Given the description of an element on the screen output the (x, y) to click on. 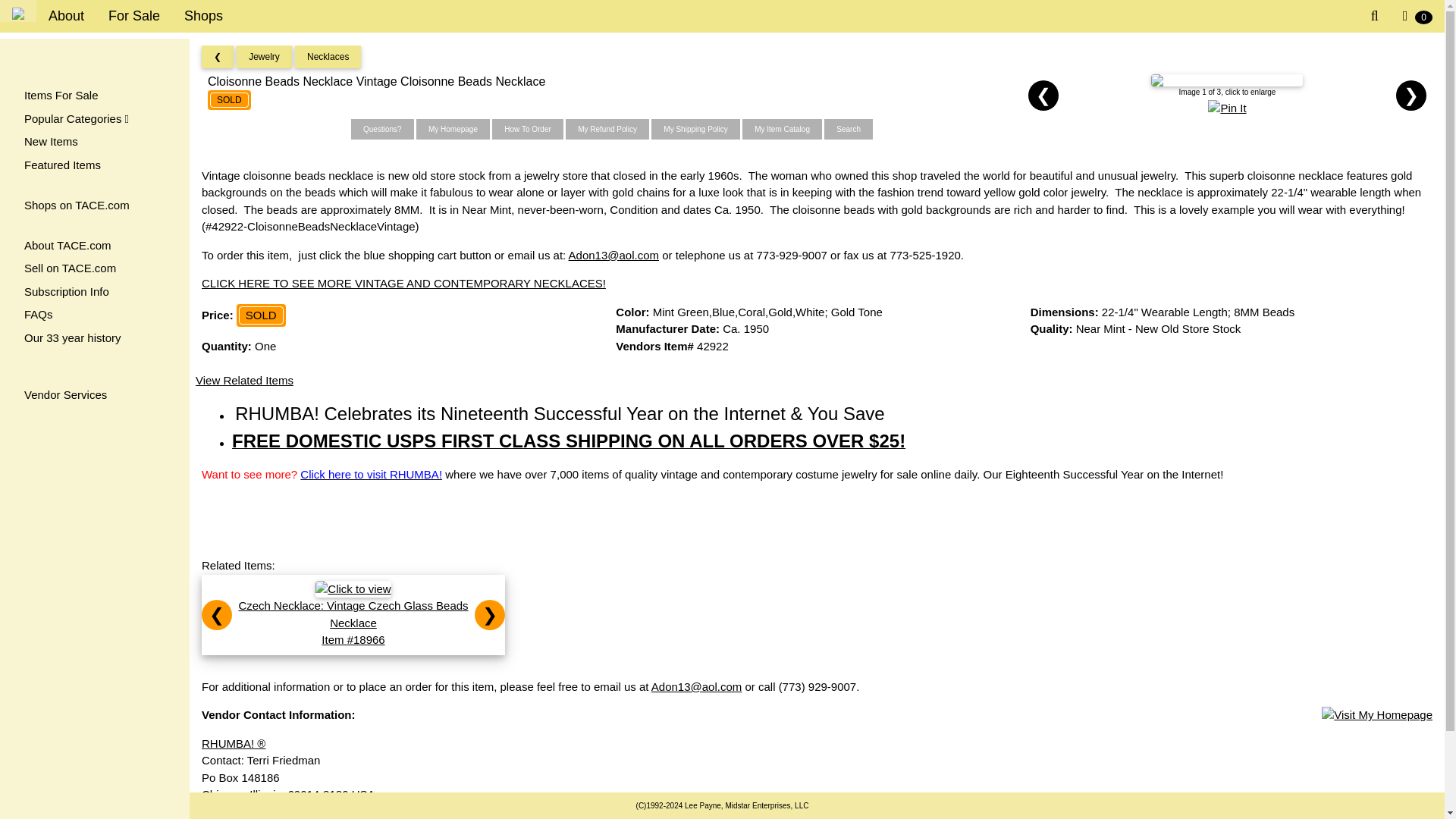
Pin It (1227, 108)
New Items (94, 141)
About TACE.com (94, 245)
About (66, 16)
FAQs (94, 314)
Popular Categories  (94, 119)
Jewelry (263, 56)
Our 33 year history (94, 338)
Sell on TACE.com (94, 268)
Necklaces (328, 56)
